Given the description of an element on the screen output the (x, y) to click on. 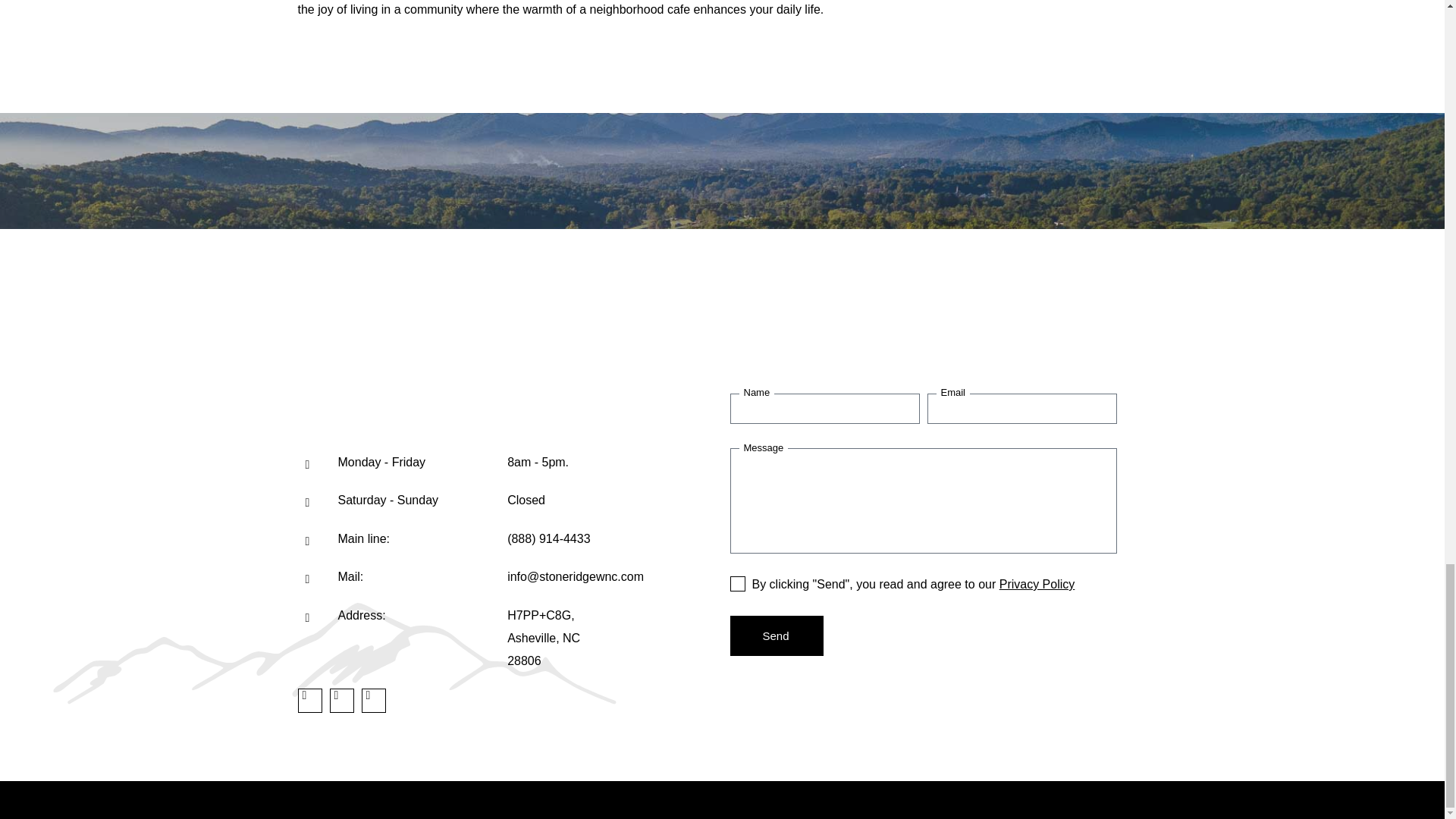
Mail: (350, 576)
Send (775, 635)
Main line: (363, 538)
Privacy Policy (1036, 584)
